Given the description of an element on the screen output the (x, y) to click on. 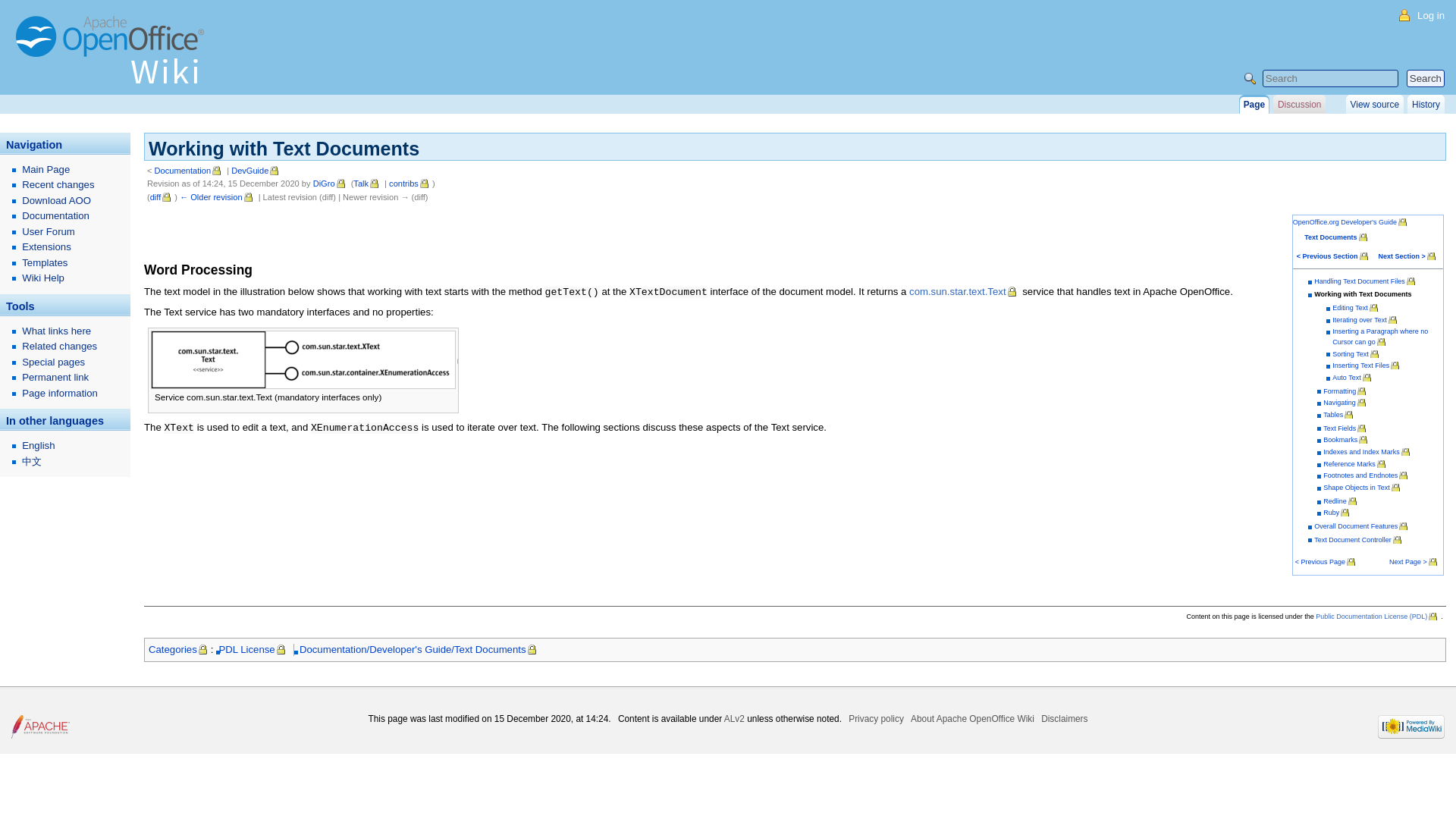
Handling Text Document Files (1365, 281)
Bookmarks (1346, 439)
Search (1425, 77)
Text Fields (1345, 428)
Sorting Text (1356, 353)
User talk:DiGro (366, 183)
Text Documents (1336, 236)
Search (1425, 77)
diff (161, 196)
DiGro (330, 183)
